Given the description of an element on the screen output the (x, y) to click on. 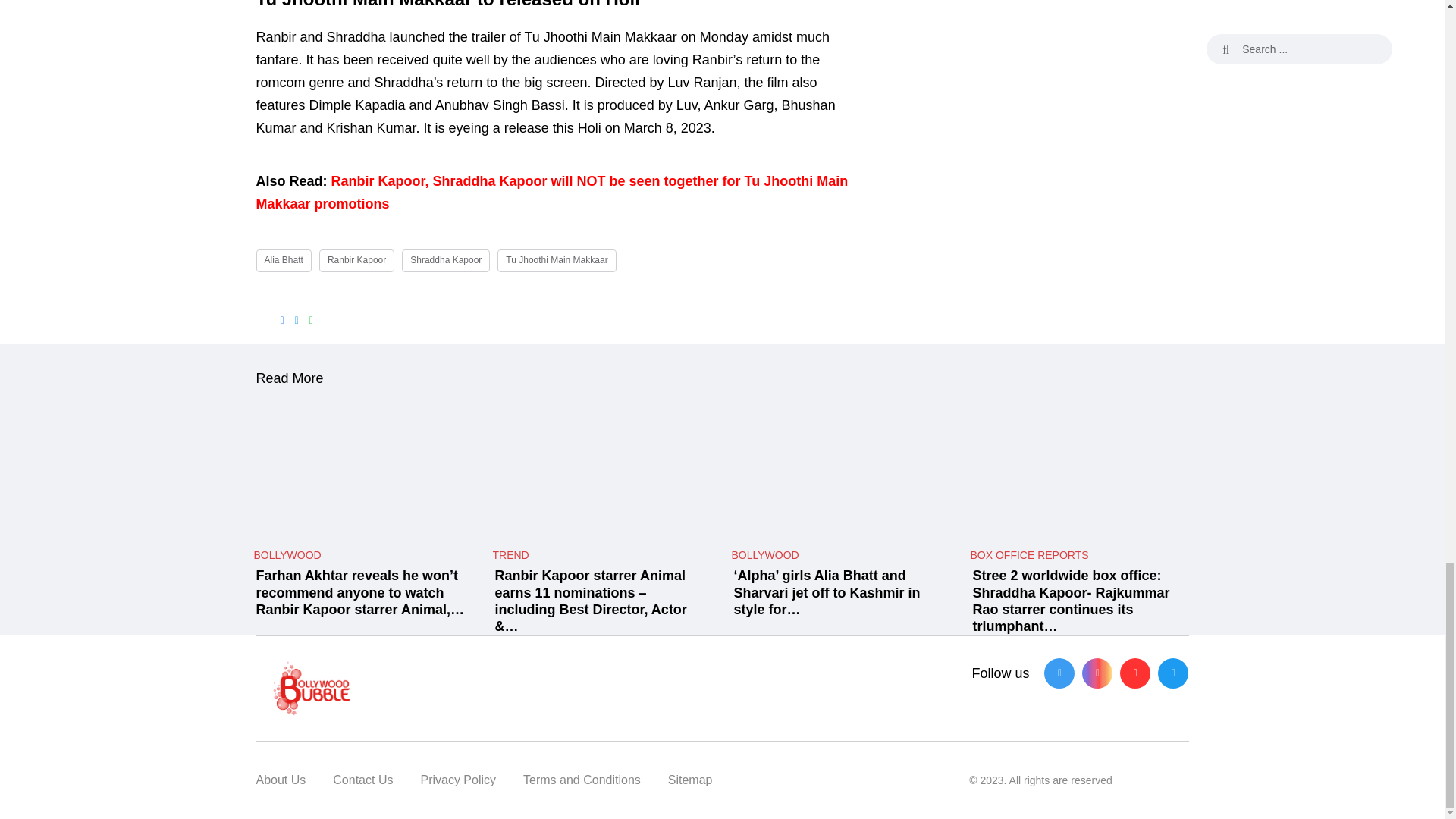
Twitter (1172, 673)
Facebook-f (1058, 673)
Bollywood Bubble (403, 688)
Youtube (1134, 673)
Instagram (1096, 673)
